Given the description of an element on the screen output the (x, y) to click on. 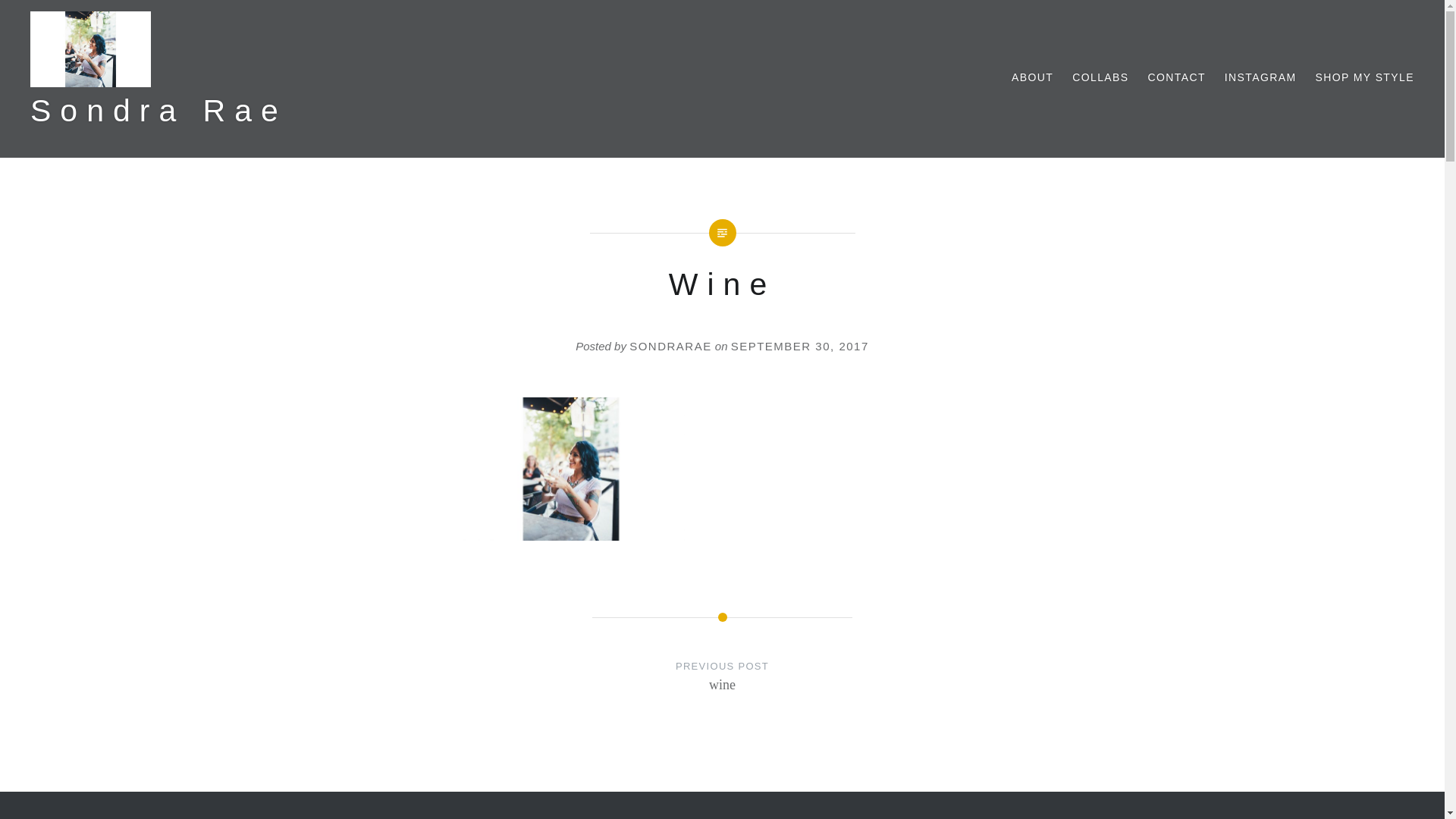
CONTACT (1176, 77)
SEPTEMBER 30, 2017 (799, 345)
INSTAGRAM (1260, 77)
SHOP MY STYLE (722, 690)
Sondra Rae (1363, 77)
SONDRARAE (158, 110)
ABOUT (669, 345)
COLLABS (1031, 77)
